Given the description of an element on the screen output the (x, y) to click on. 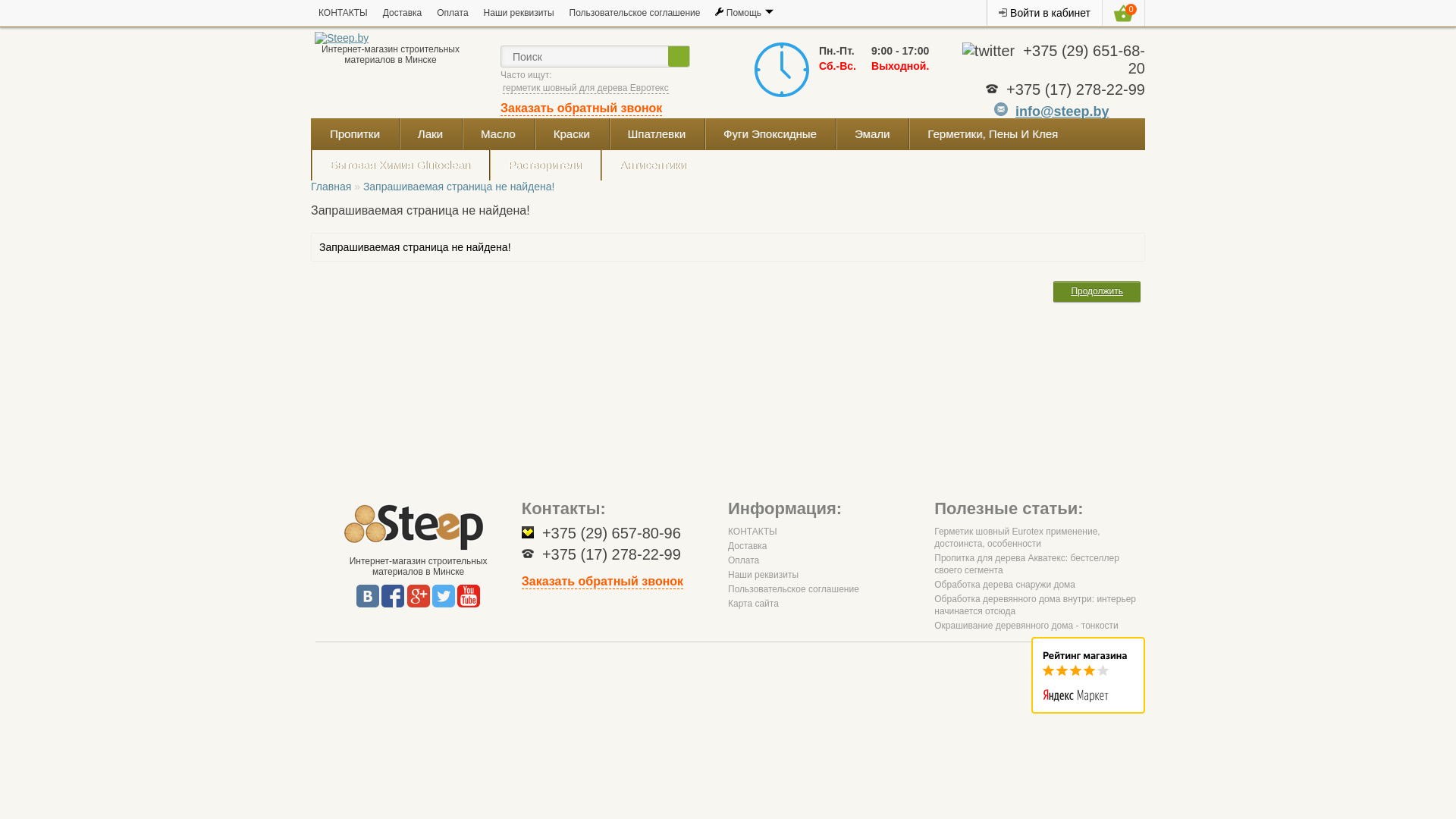
+375 (29) 651-68-20 Element type: text (1083, 59)
+375 (29) 657-80-96 Element type: text (611, 532)
Steep.by Element type: hover (418, 525)
+375 (17) 278-22-99 Element type: text (611, 554)
+375 (17) 278-22-99 Element type: text (1075, 89)
Steep.by Element type: hover (341, 37)
